Given the description of an element on the screen output the (x, y) to click on. 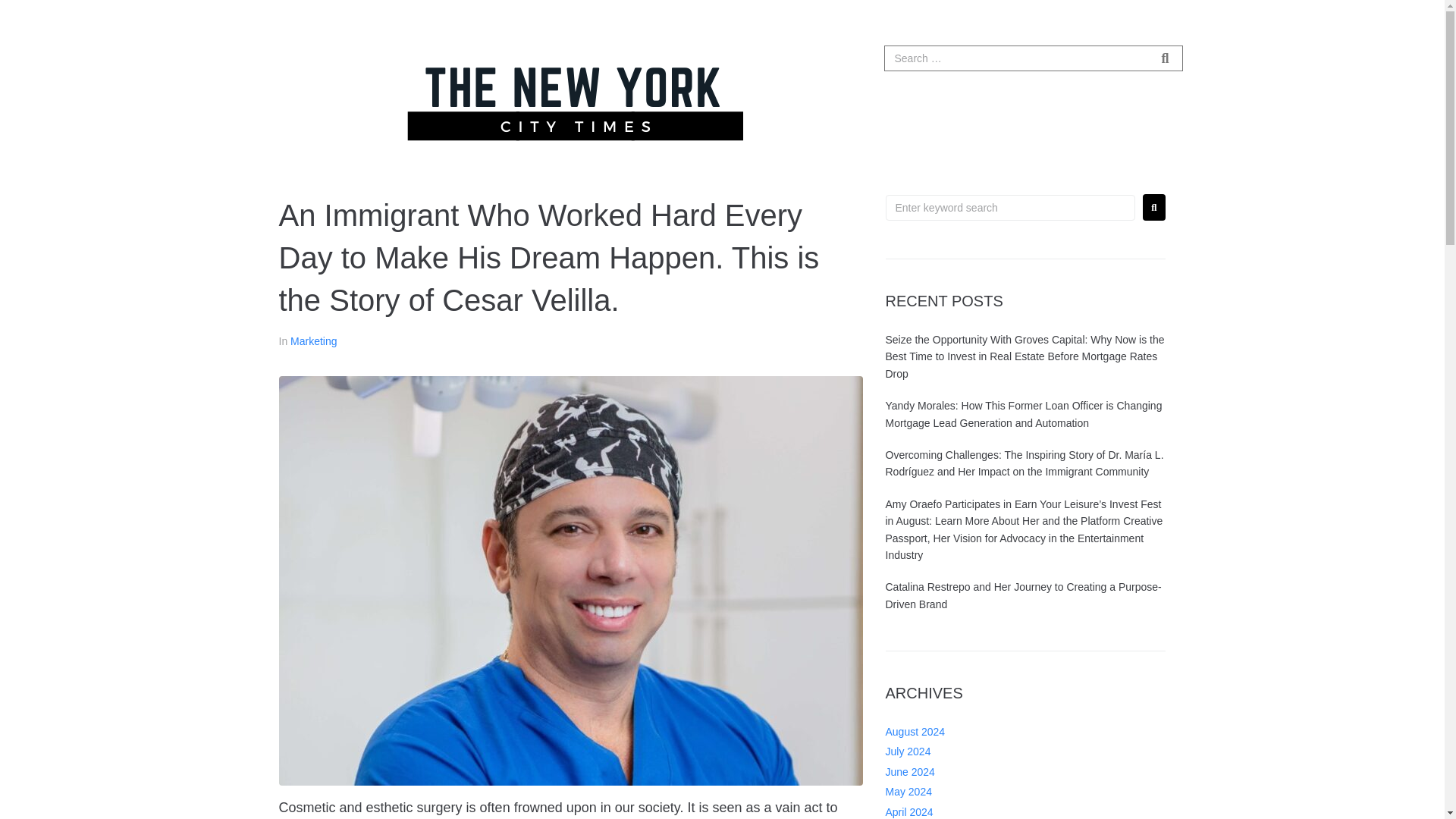
Marketing (312, 340)
August 2024 (914, 731)
July 2024 (908, 751)
April 2024 (909, 811)
May 2024 (908, 791)
June 2024 (909, 771)
